Given the description of an element on the screen output the (x, y) to click on. 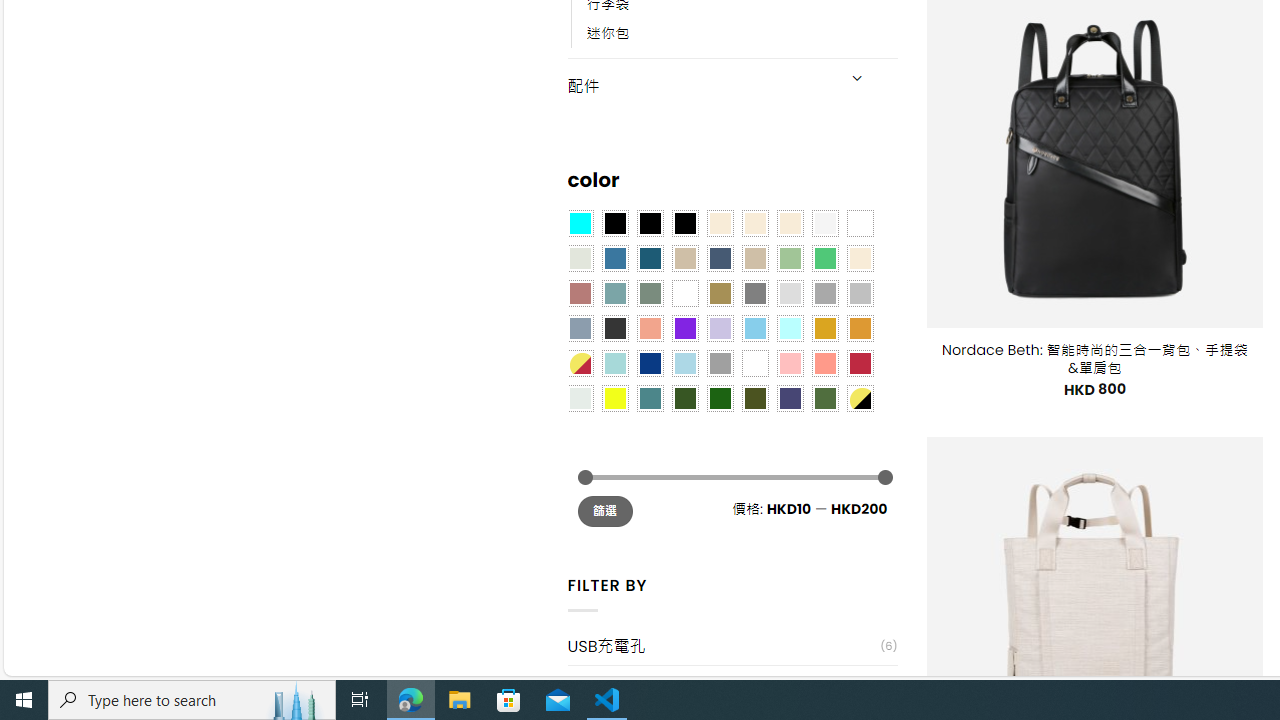
Cream (789, 223)
